Given the description of an element on the screen output the (x, y) to click on. 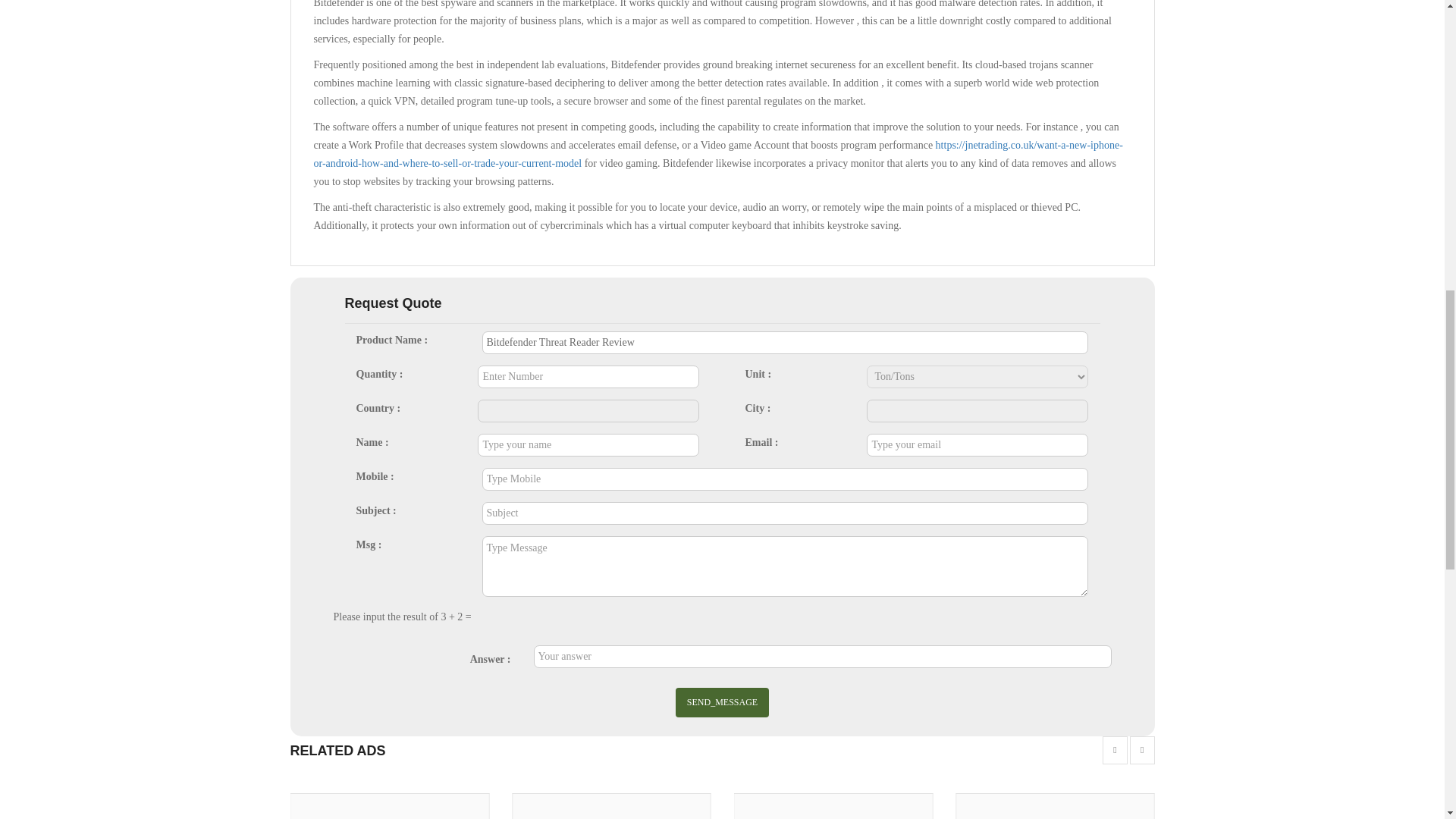
Bitdefender Threat Reader Review (785, 342)
